Given the description of an element on the screen output the (x, y) to click on. 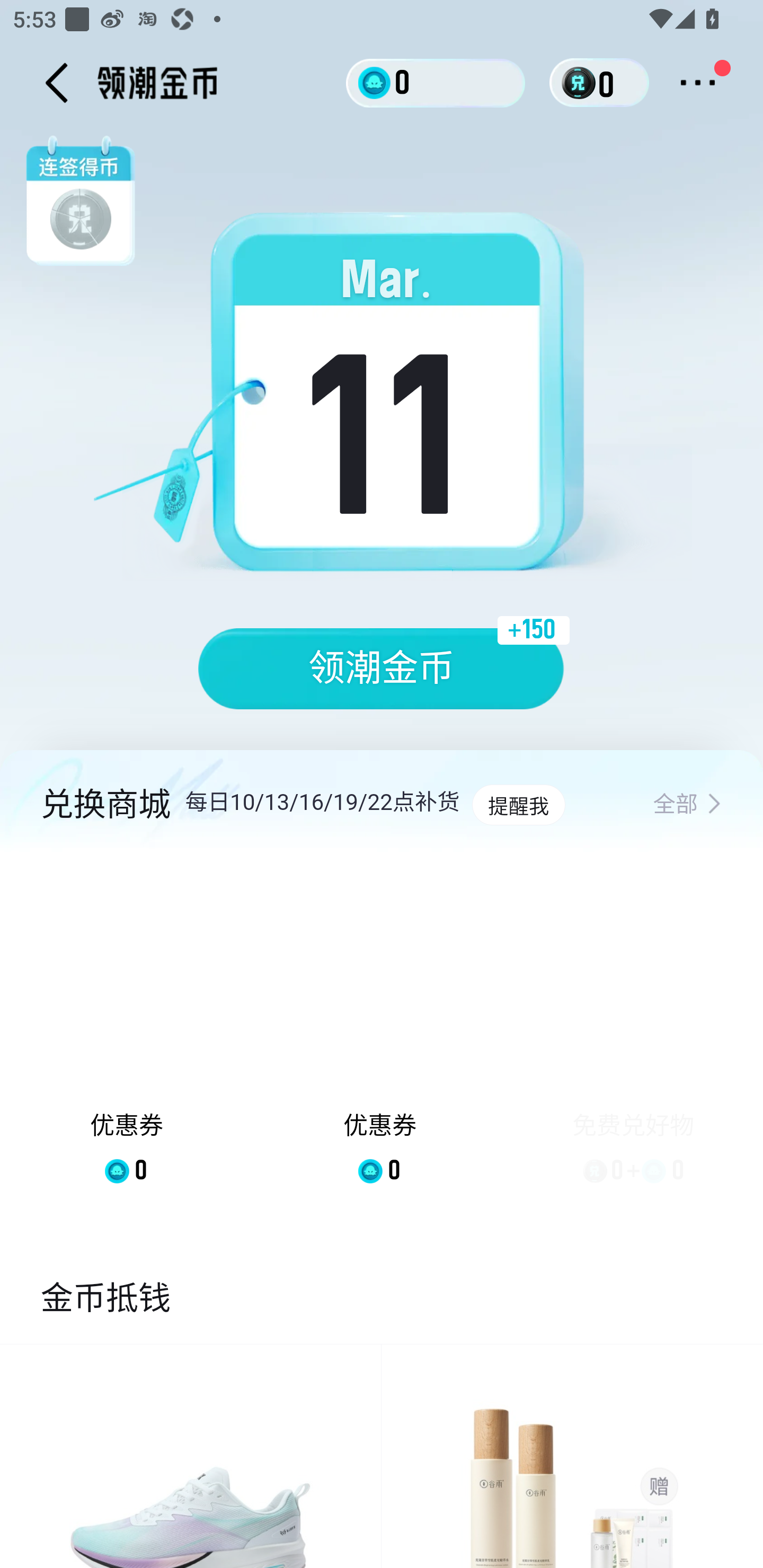
0 (435, 82)
format,webp 0 (581, 83)
领潮金币 + 150 (381, 668)
提醒我 (518, 805)
全部 (687, 804)
优惠券 0 (127, 1031)
优惠券 0 (379, 1031)
免费兑好物 0 0 (633, 1031)
